Given the description of an element on the screen output the (x, y) to click on. 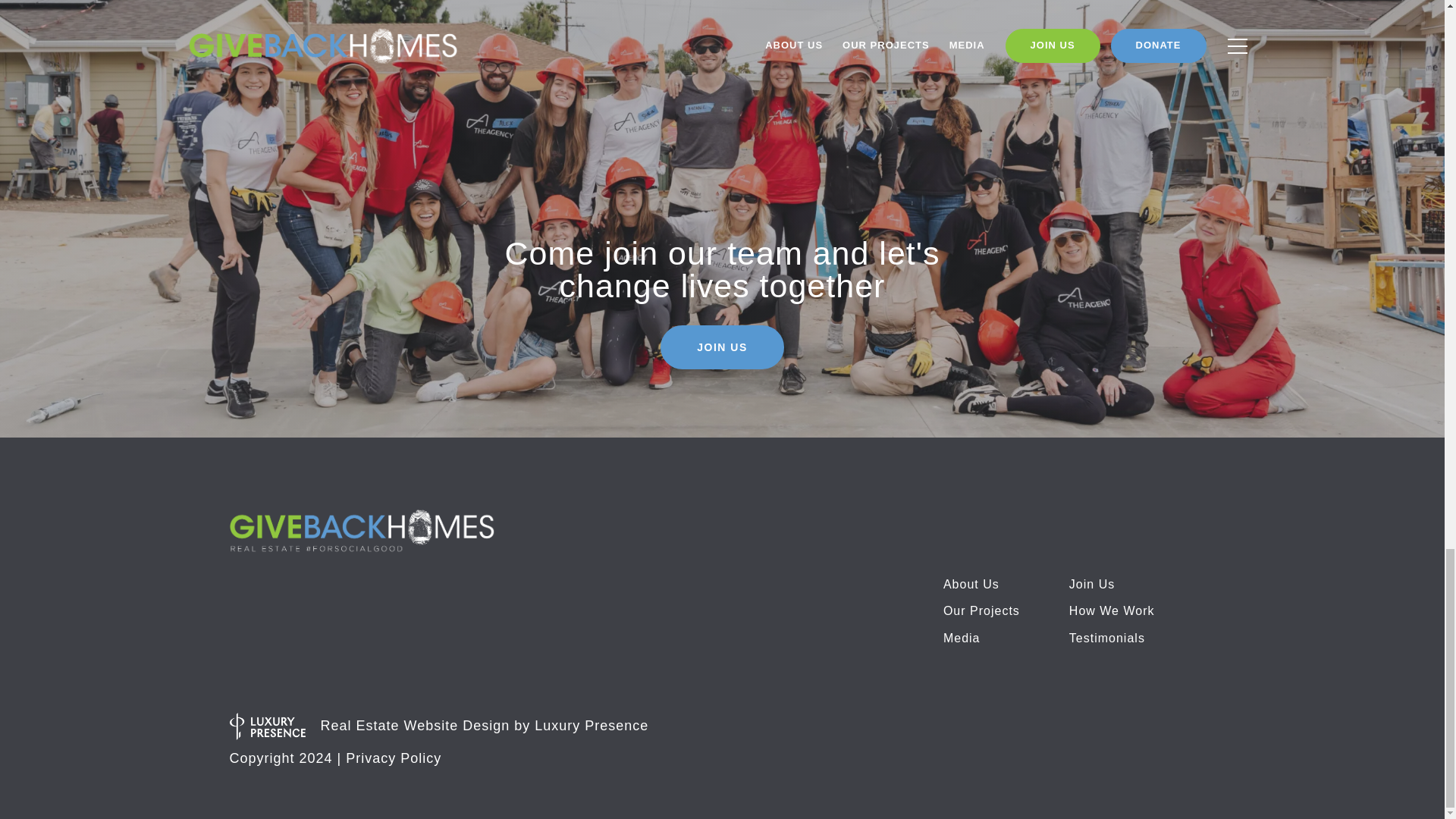
JOIN US (722, 347)
